Given the description of an element on the screen output the (x, y) to click on. 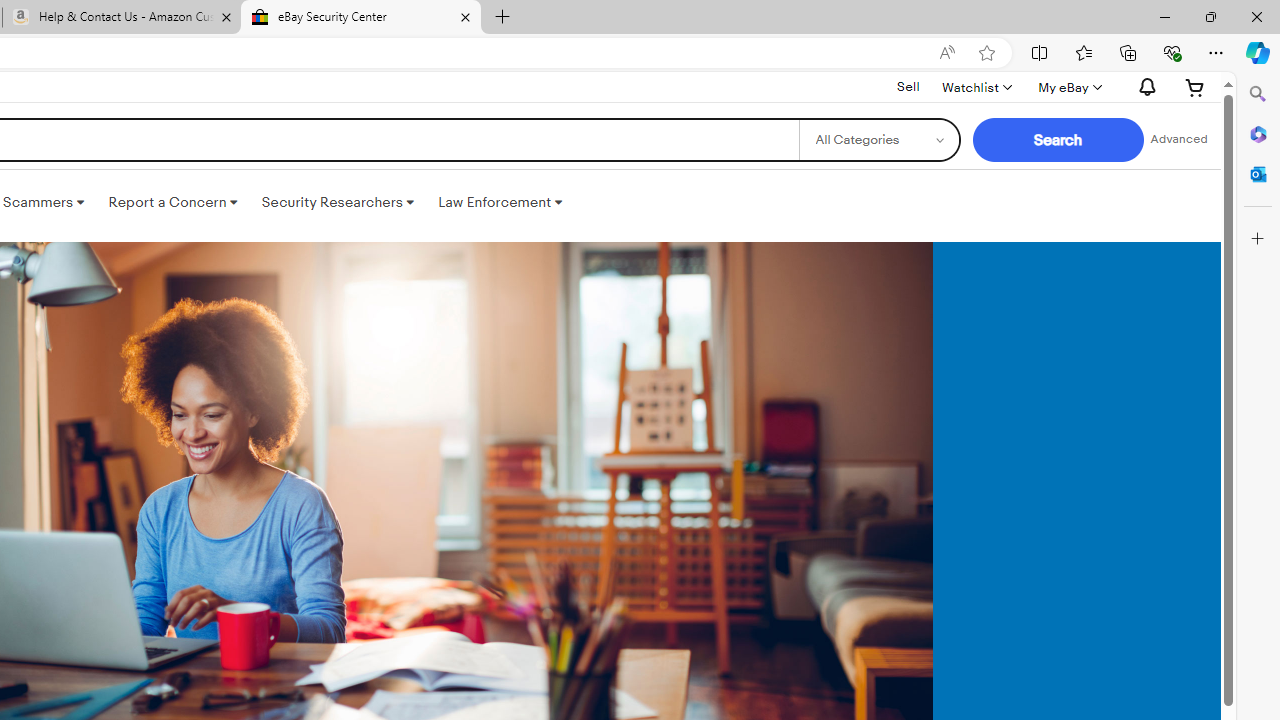
Advanced Search (1179, 139)
Notifications (1142, 87)
Customize (1258, 239)
Your shopping cart (1195, 87)
Sell (908, 87)
Security Researchers  (337, 202)
